Given the description of an element on the screen output the (x, y) to click on. 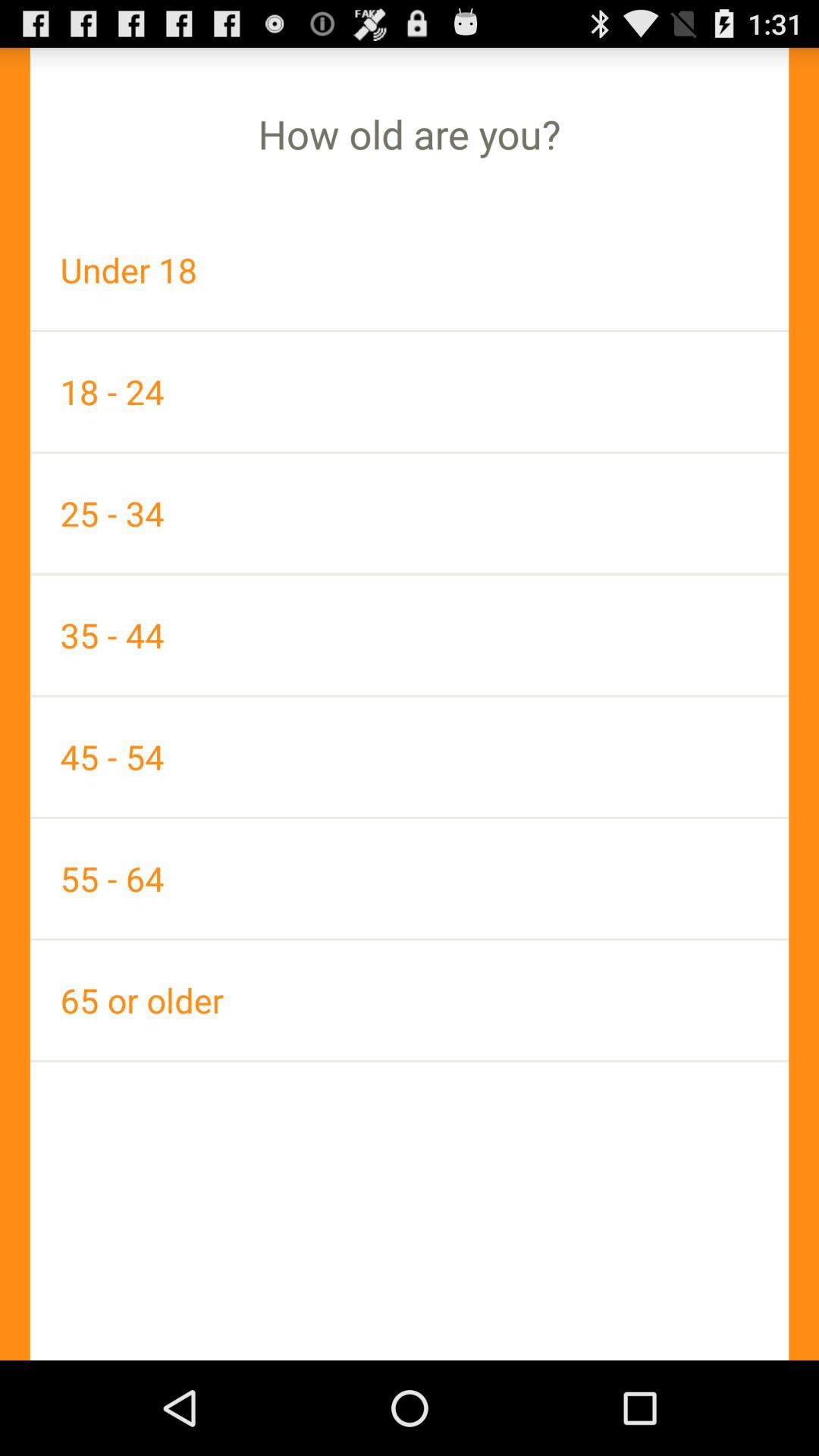
scroll until 65 or older (409, 1000)
